Given the description of an element on the screen output the (x, y) to click on. 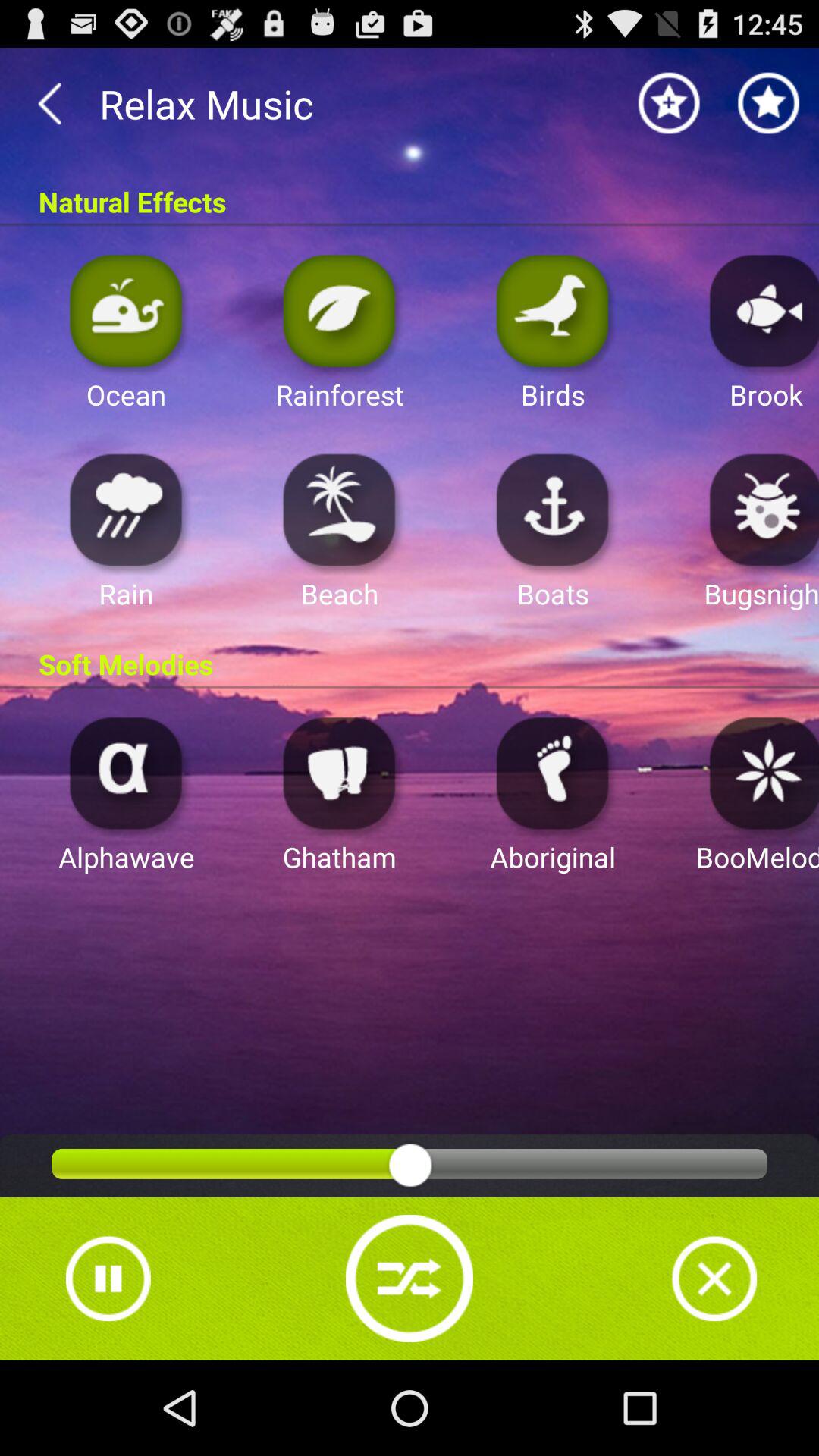
aboriginal (552, 772)
